Given the description of an element on the screen output the (x, y) to click on. 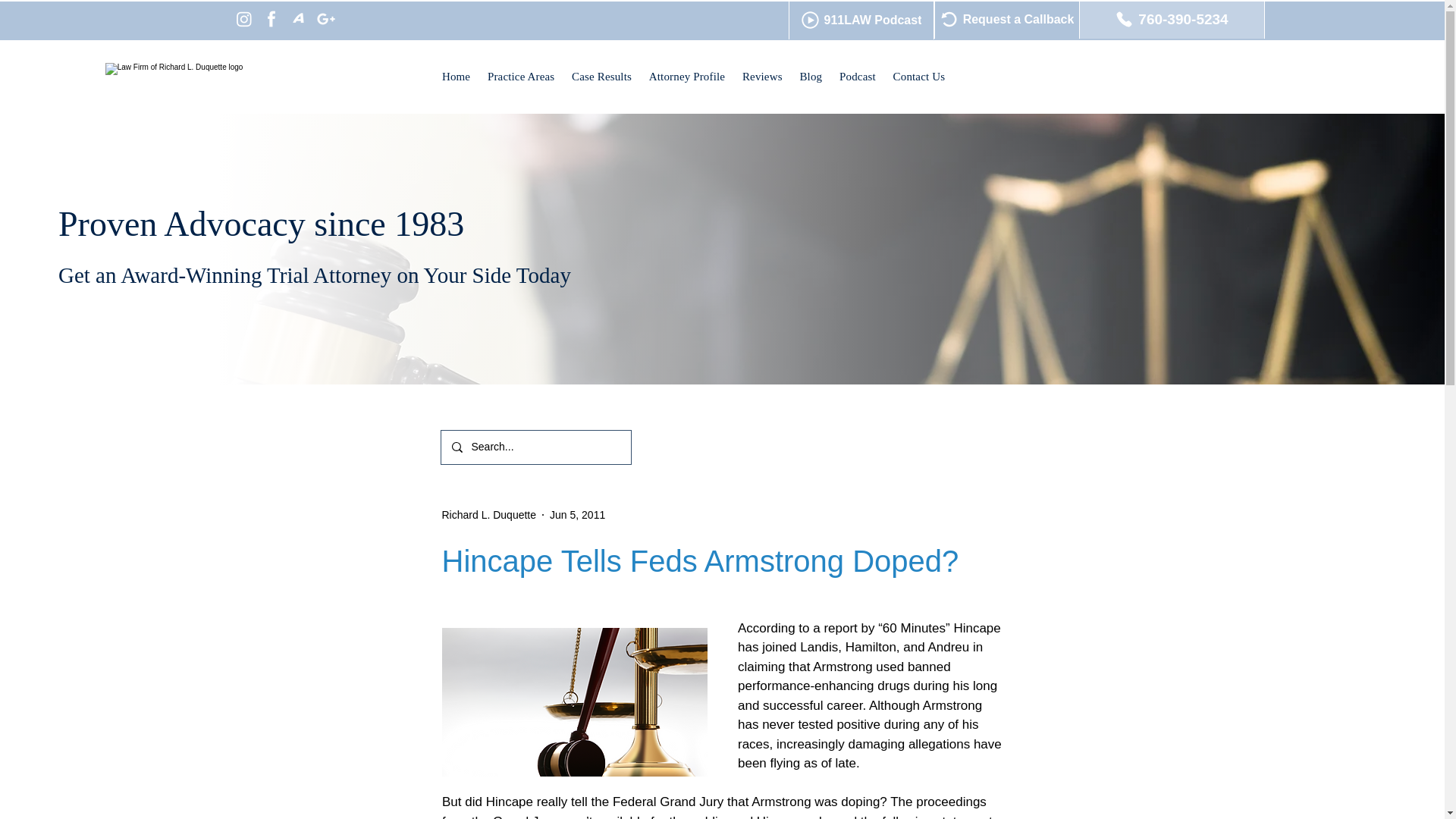
Home (456, 76)
Jun 5, 2011 (577, 513)
Case Results (601, 76)
760-390-5234 (1170, 19)
Request a Callback (1007, 19)
Practice Areas (521, 76)
Blog (810, 76)
911LAW Podcast (861, 19)
Reviews (762, 76)
Richard L. Duquette (488, 514)
